Given the description of an element on the screen output the (x, y) to click on. 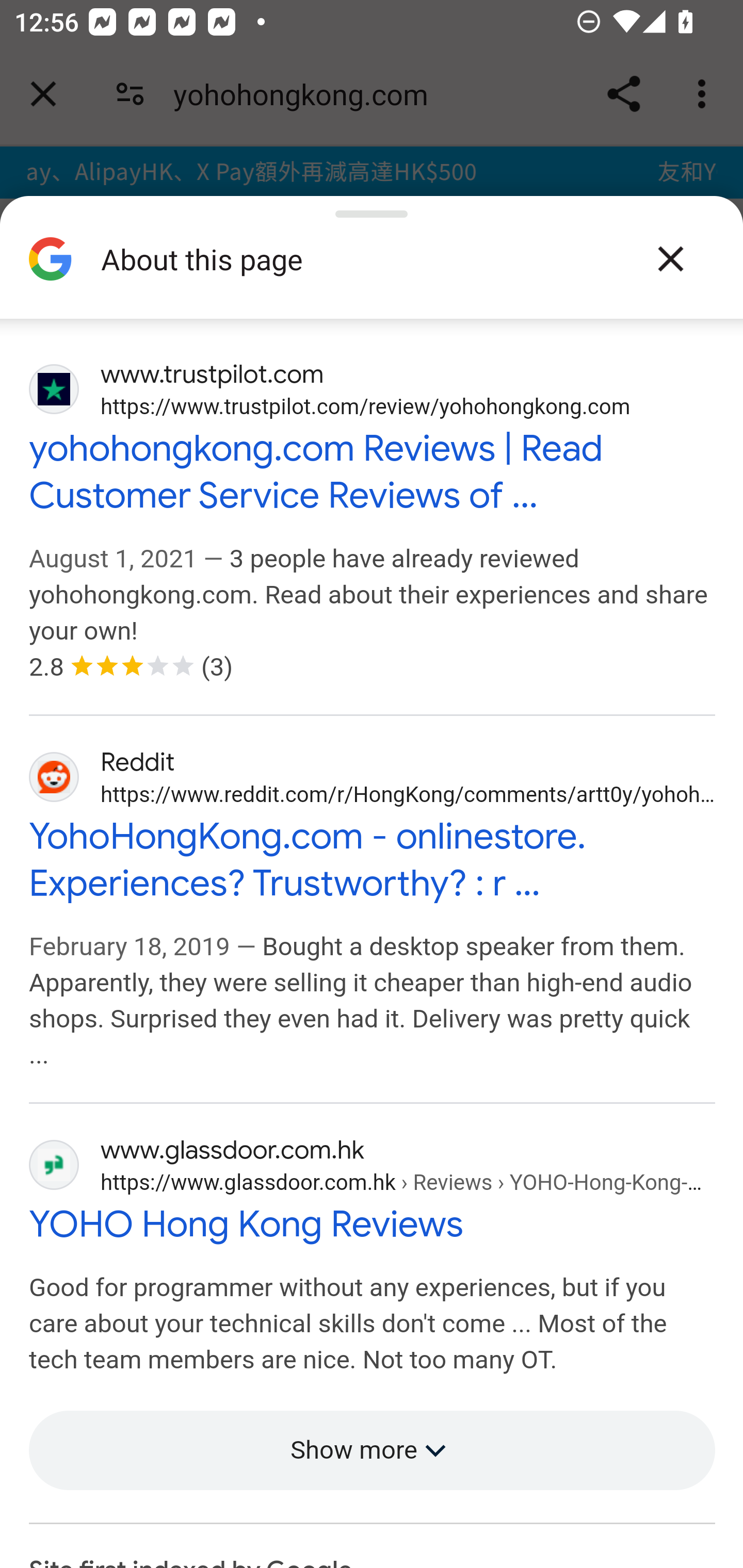
About this page Close (371, 266)
Close (670, 259)
Show more (372, 1449)
